Given the description of an element on the screen output the (x, y) to click on. 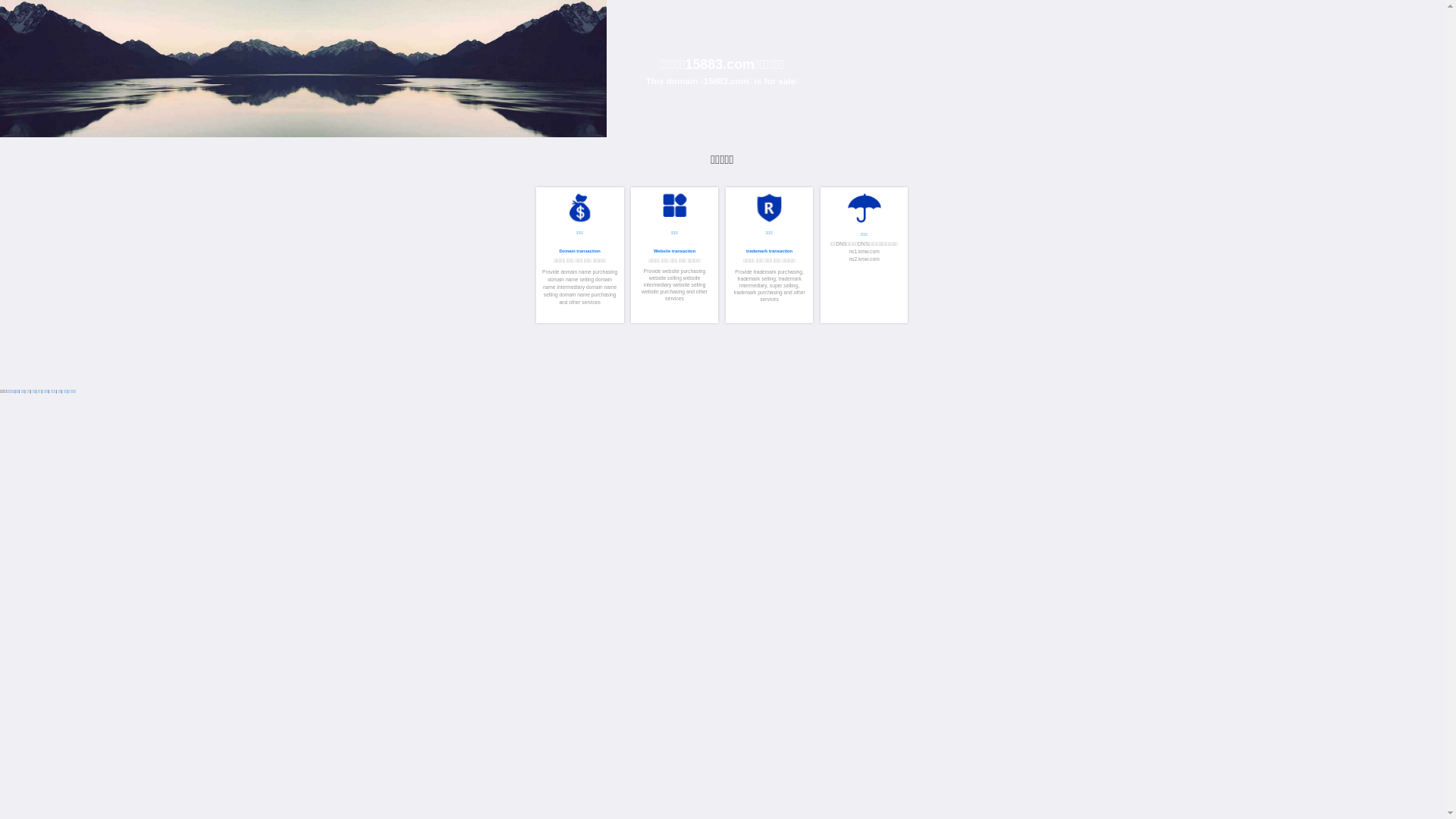
Domain transaction Element type: text (1391, 602)
